Given the description of an element on the screen output the (x, y) to click on. 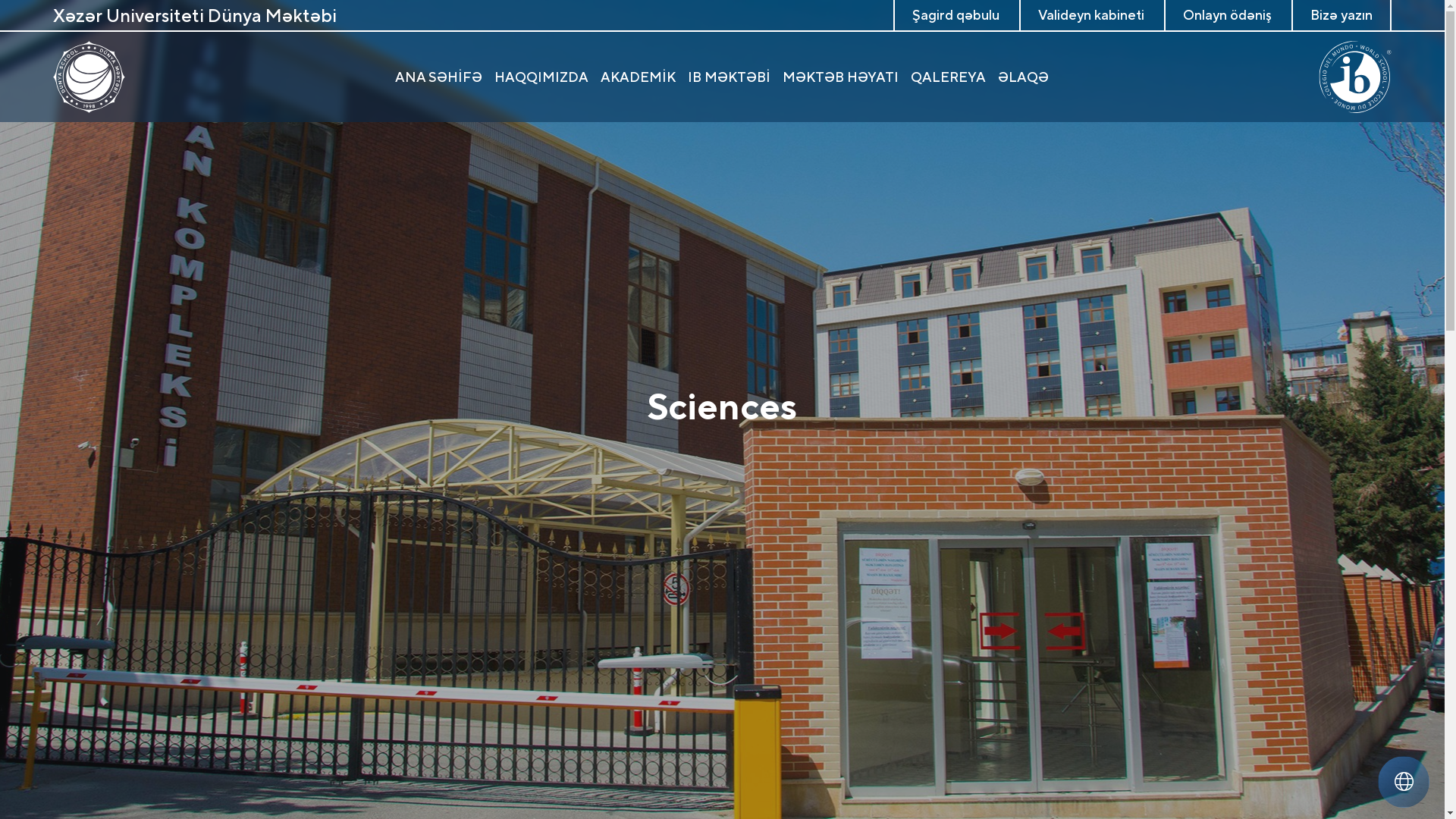
QALEREYA Element type: text (947, 77)
HAQQIMIZDA Element type: text (541, 77)
